Given the description of an element on the screen output the (x, y) to click on. 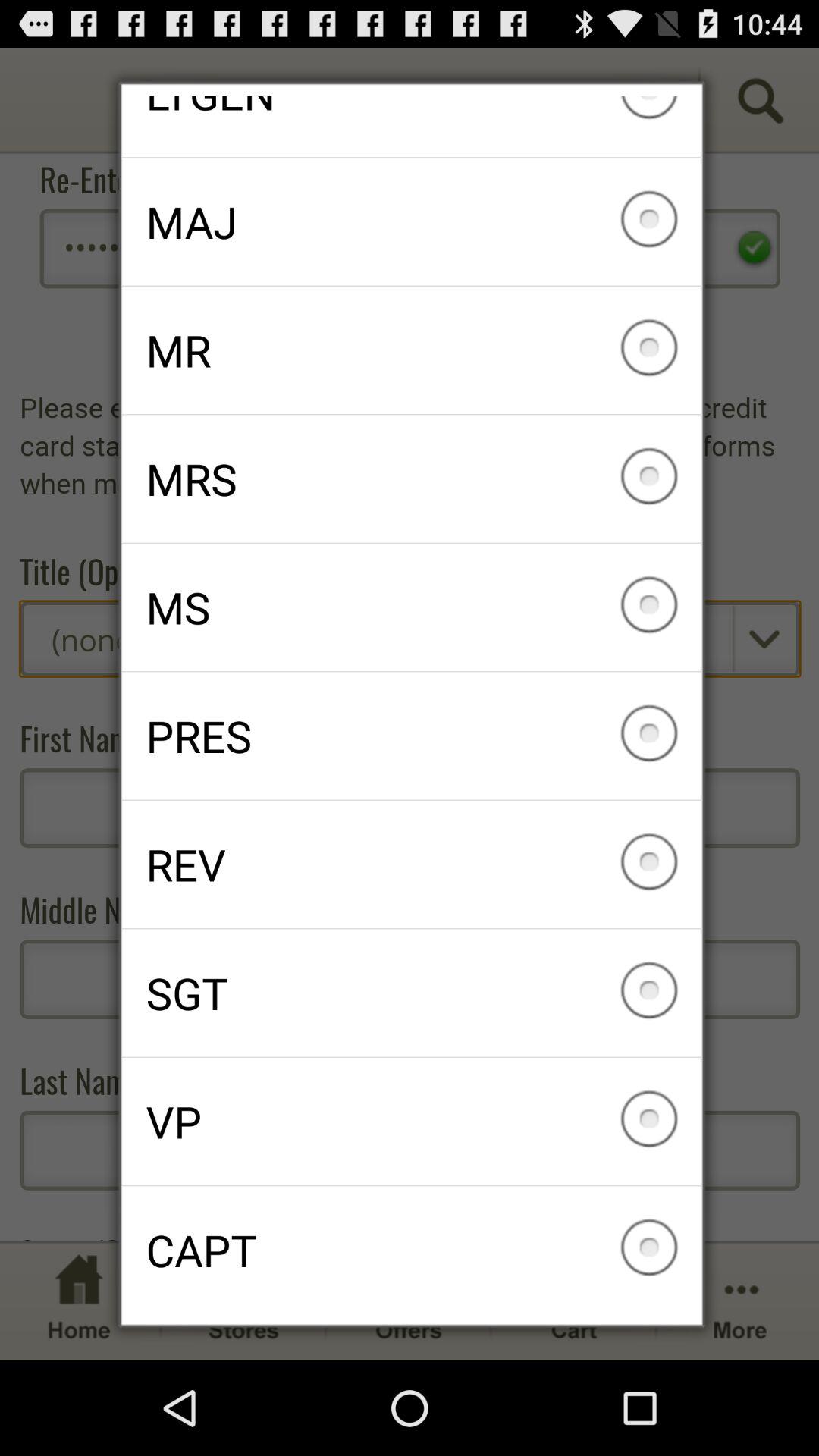
turn on the checkbox below pres icon (411, 864)
